Given the description of an element on the screen output the (x, y) to click on. 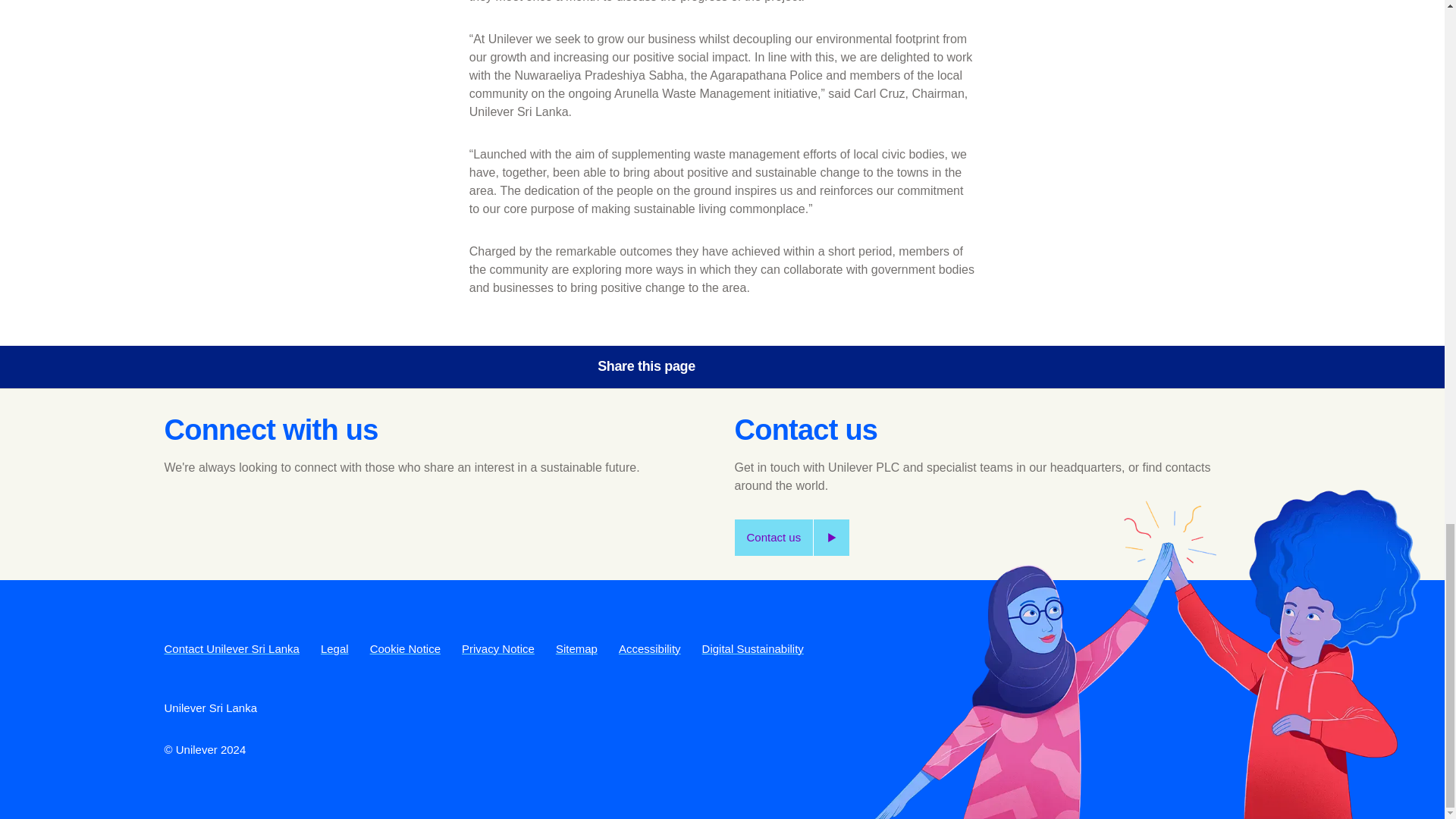
Connect with us on X (222, 517)
Share this page on E-mail (868, 367)
Accessibility (649, 648)
Sitemap (576, 648)
Share this page on Facebook (740, 367)
Digital Sustainability (752, 648)
Connect with us on Facebook (181, 517)
Share this page on Linked In (825, 367)
Cookie Notice (405, 648)
Contact Unilever Sri Lanka (230, 648)
Legal (334, 648)
Connect with us on YouTube (263, 517)
Contact us (790, 537)
Privacy Notice (497, 648)
Share this page on X (782, 367)
